Given the description of an element on the screen output the (x, y) to click on. 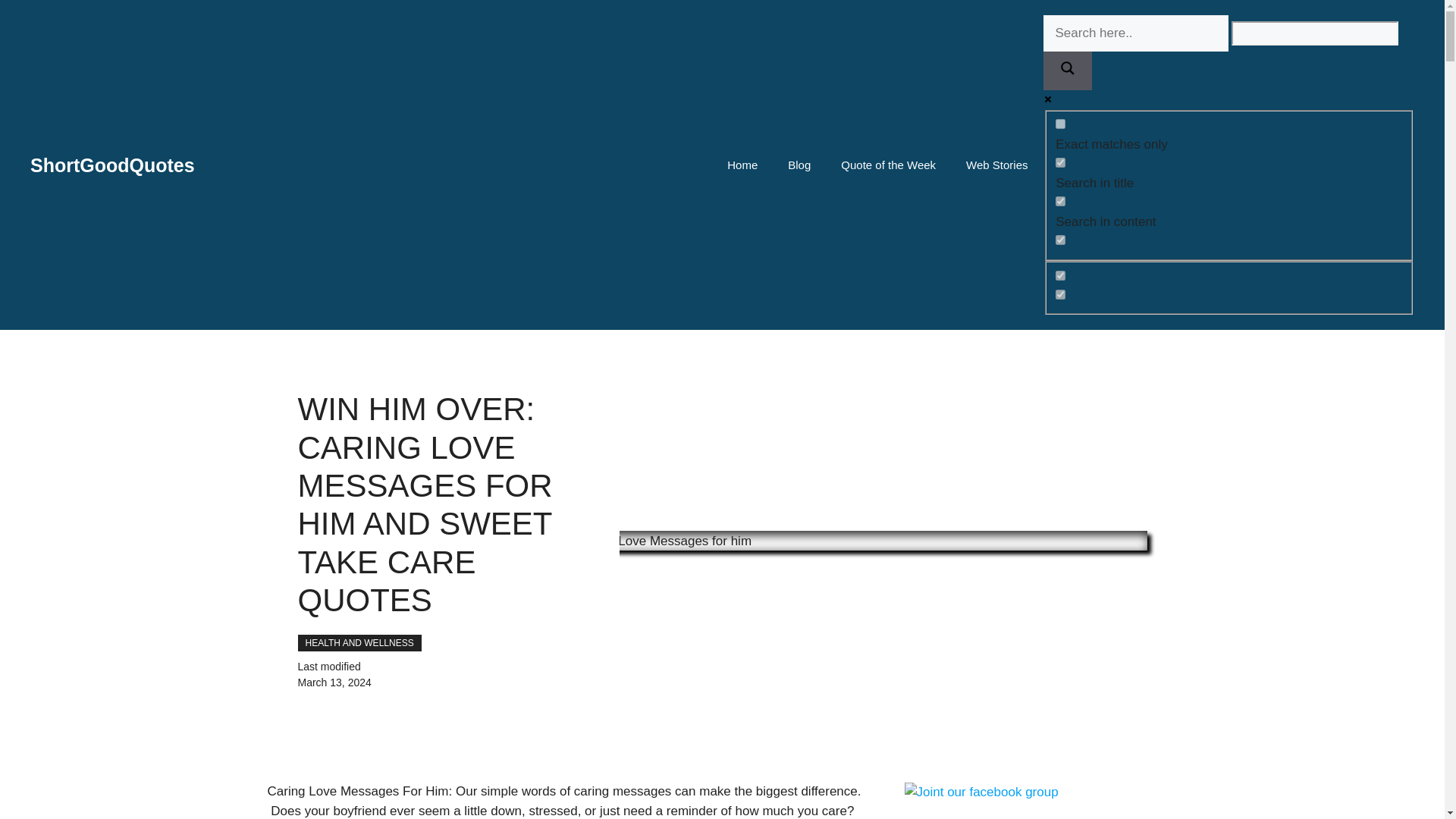
Blog (799, 165)
Home (1228, 184)
title (742, 165)
excerpt (1060, 162)
ShortGoodQuotes (1060, 239)
Start search (112, 165)
Web Stories (1407, 23)
exact (996, 165)
Quote of the Week (1060, 123)
